Given the description of an element on the screen output the (x, y) to click on. 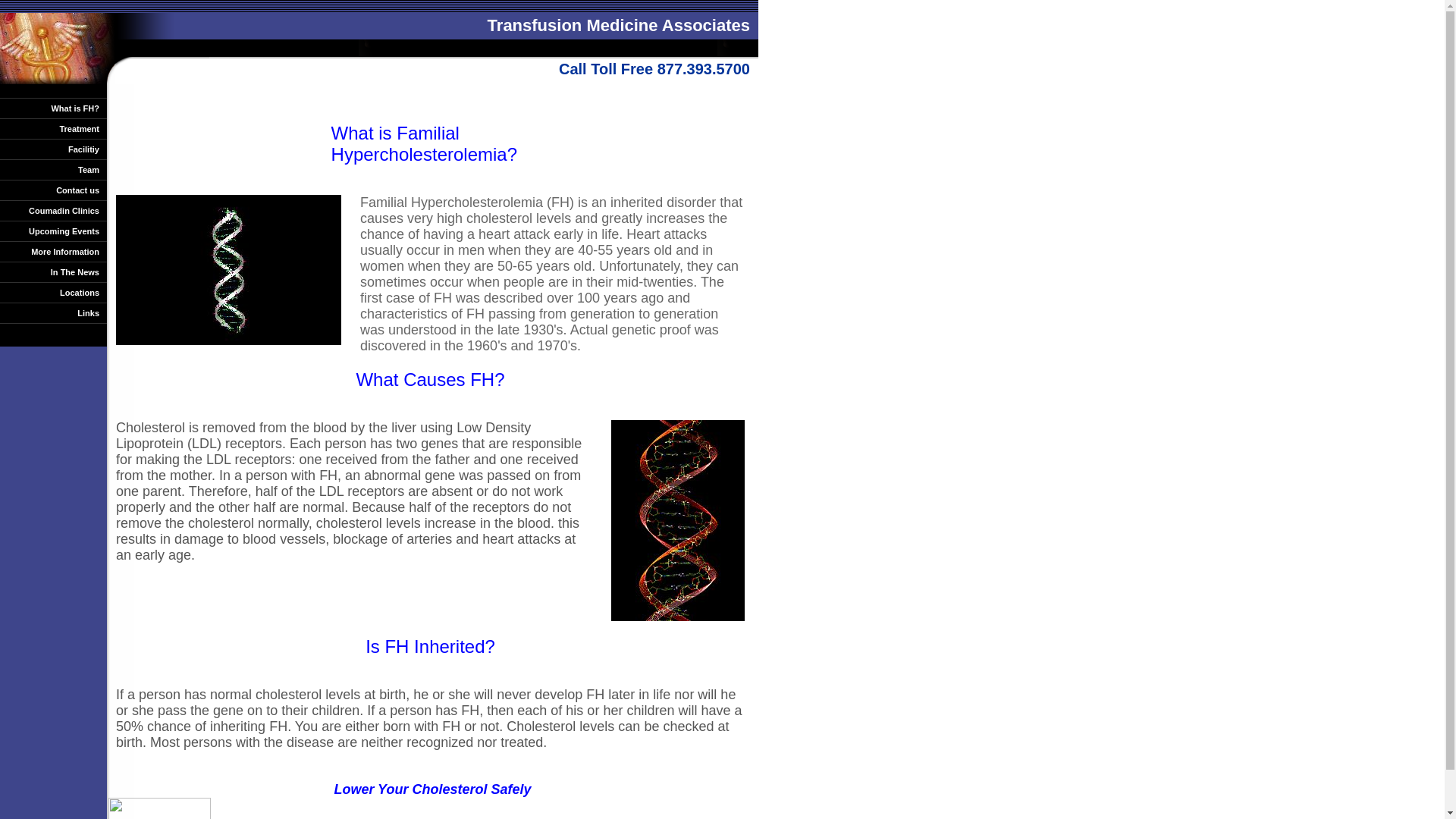
More Information (53, 251)
What is FH? (53, 108)
In The News (53, 272)
Upcoming Events (53, 231)
Treatment (53, 128)
Links (53, 313)
Team (53, 169)
Coumadin Clinics (53, 210)
Contact us (53, 190)
Facilitiy (53, 149)
Locations (53, 292)
